Given the description of an element on the screen output the (x, y) to click on. 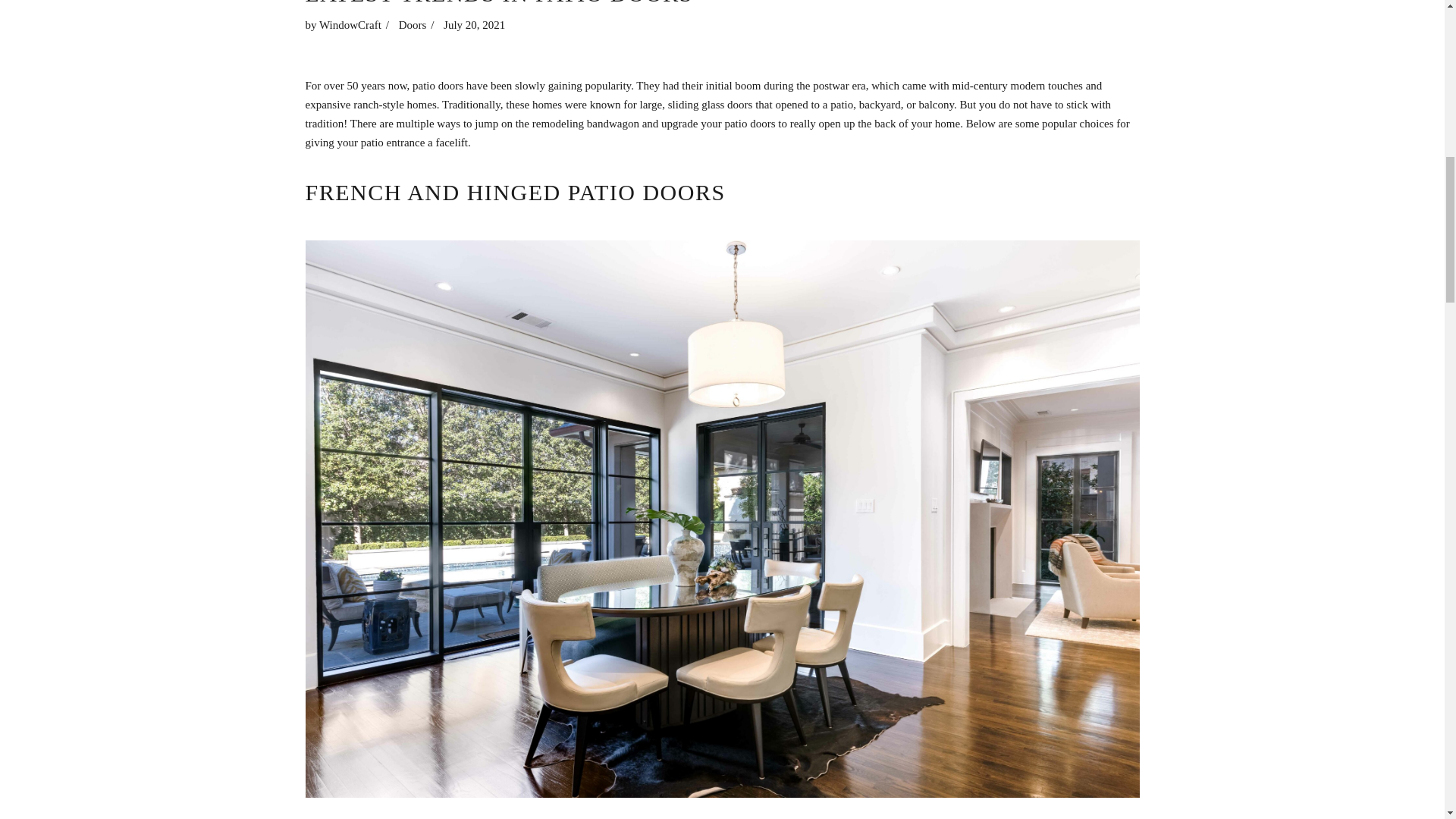
July 20, 2021 (474, 24)
Doors (412, 24)
WindowCraft (349, 24)
